Given the description of an element on the screen output the (x, y) to click on. 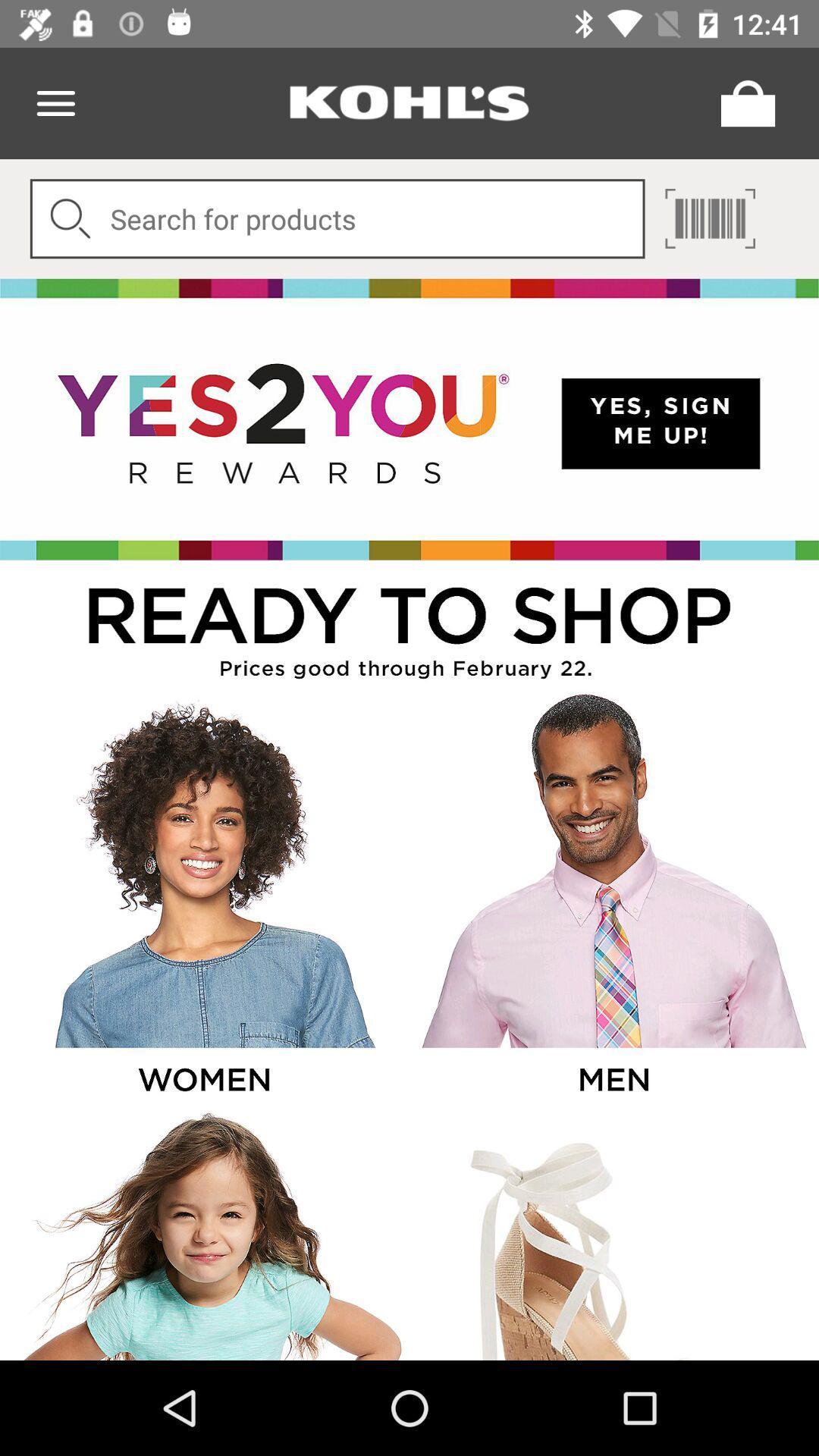
shopping to be men (613, 899)
